Given the description of an element on the screen output the (x, y) to click on. 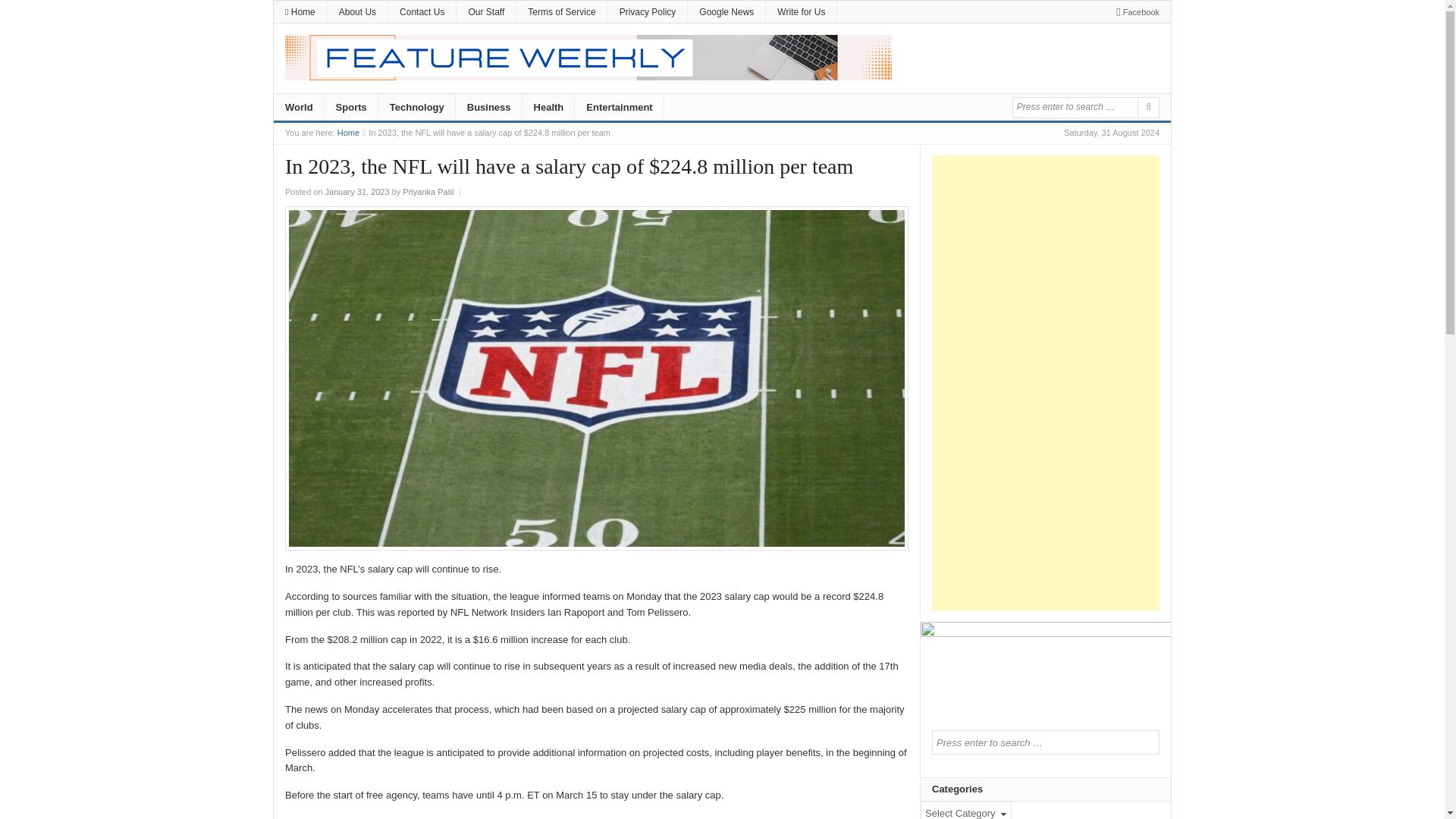
About Us (357, 11)
Feature Weekly (348, 132)
Home (348, 132)
Search for: (1073, 106)
Privacy Policy (647, 11)
Terms of Service (561, 11)
Business (488, 108)
Our Staff (486, 11)
Health (548, 108)
Priyanka Patil (427, 191)
